Given the description of an element on the screen output the (x, y) to click on. 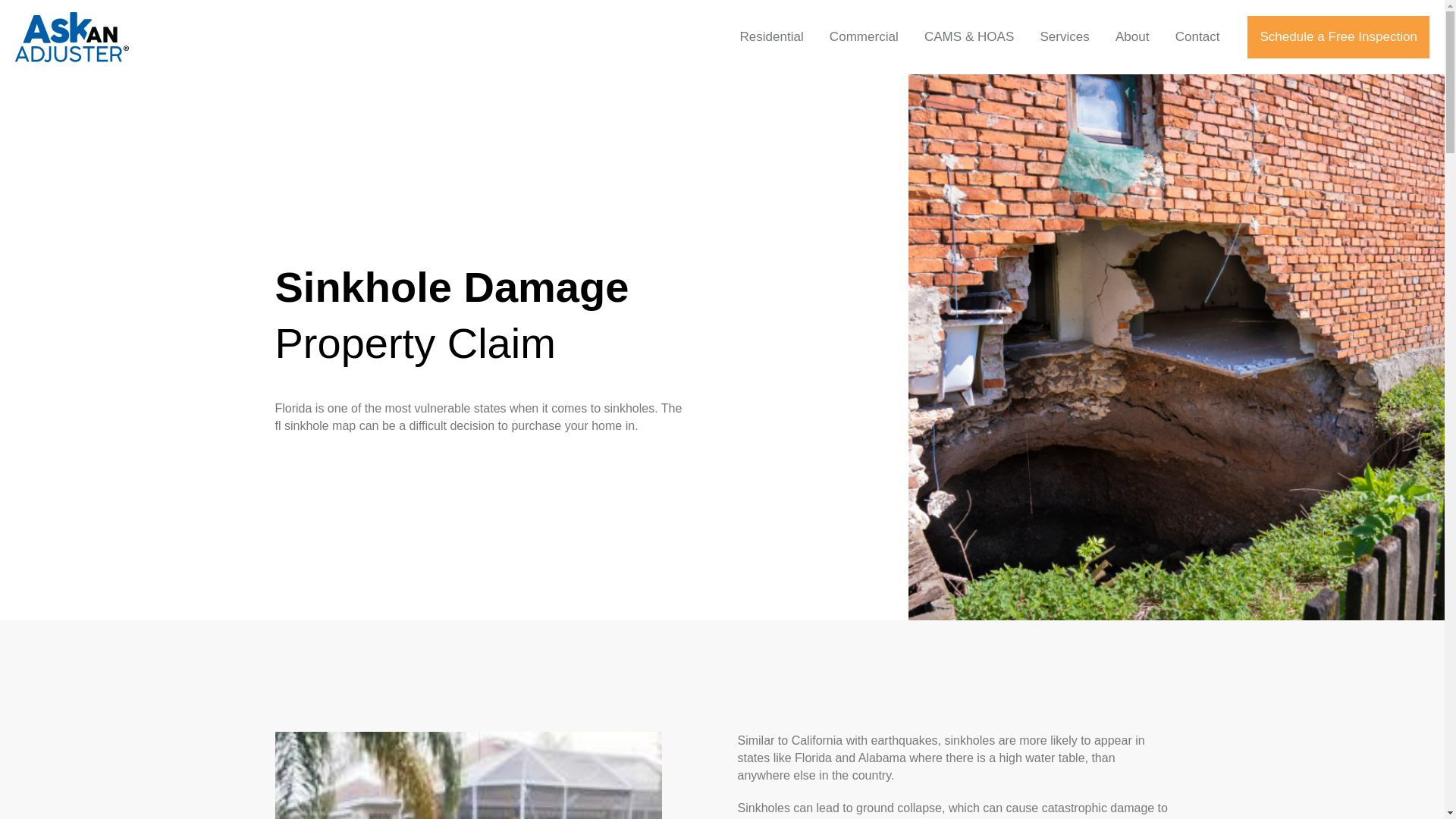
Residential (770, 36)
Schedule a Free Inspection (1338, 36)
Contact (1197, 36)
Services (1064, 36)
Commercial (863, 36)
About (1131, 36)
